Given the description of an element on the screen output the (x, y) to click on. 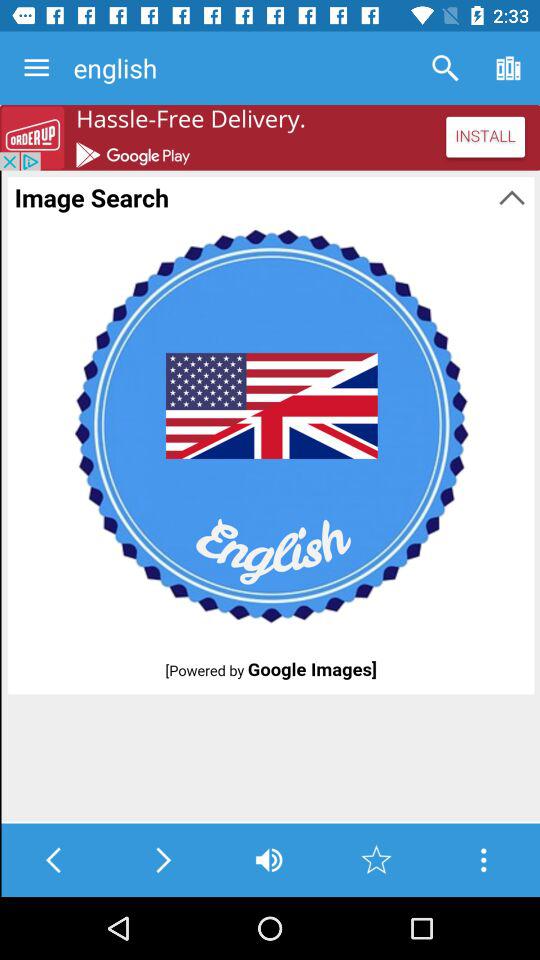
more option (483, 859)
